Given the description of an element on the screen output the (x, y) to click on. 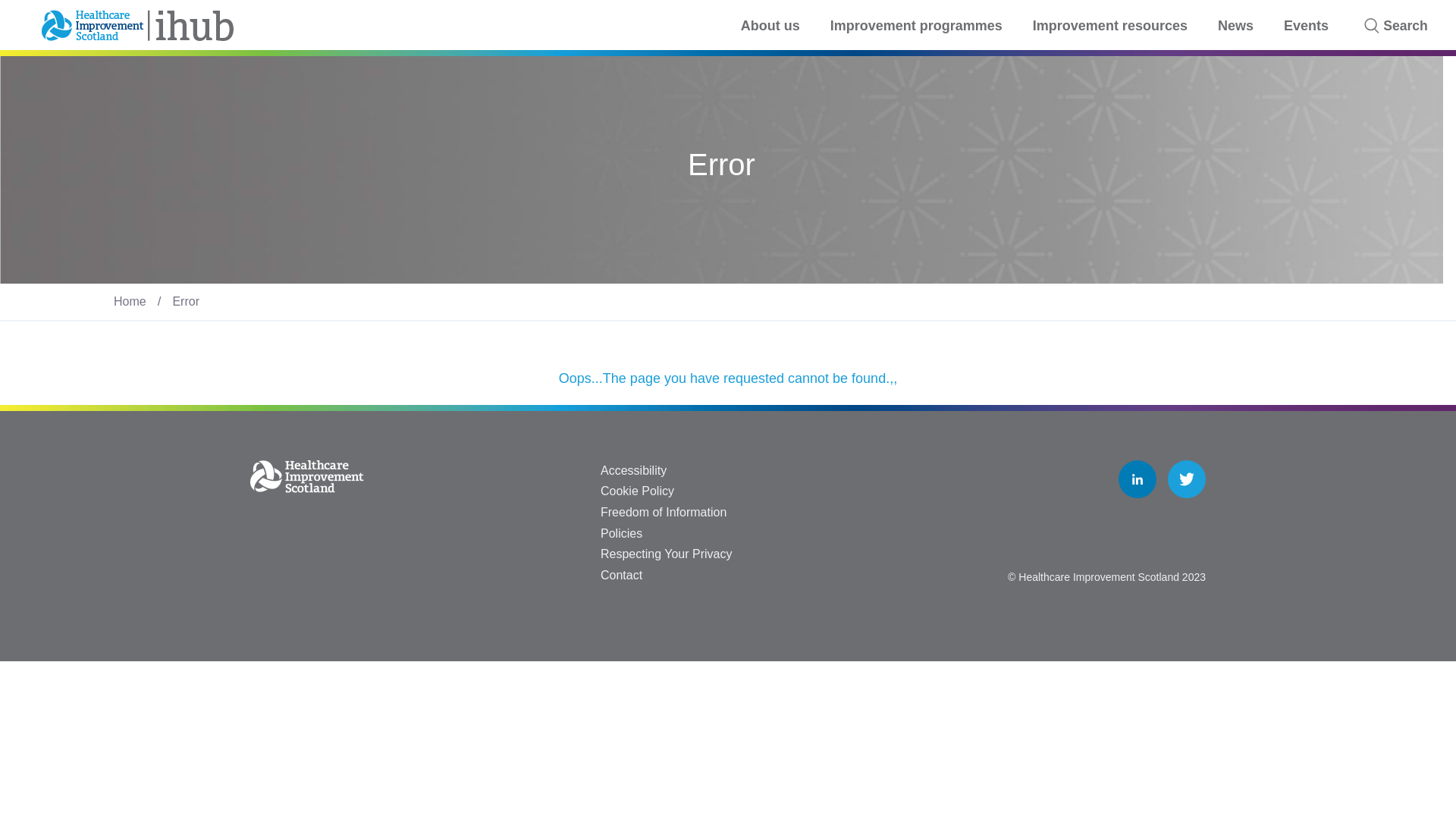
News (1235, 25)
Policies (620, 532)
Freedom of Information (662, 512)
Accessibility (632, 470)
Contact (620, 574)
Cookie Policy (636, 490)
Home (130, 300)
About us (770, 25)
Respecting Your Privacy (665, 553)
Improvement resources (1110, 25)
Events (1305, 25)
Improvement programmes (916, 25)
